Given the description of an element on the screen output the (x, y) to click on. 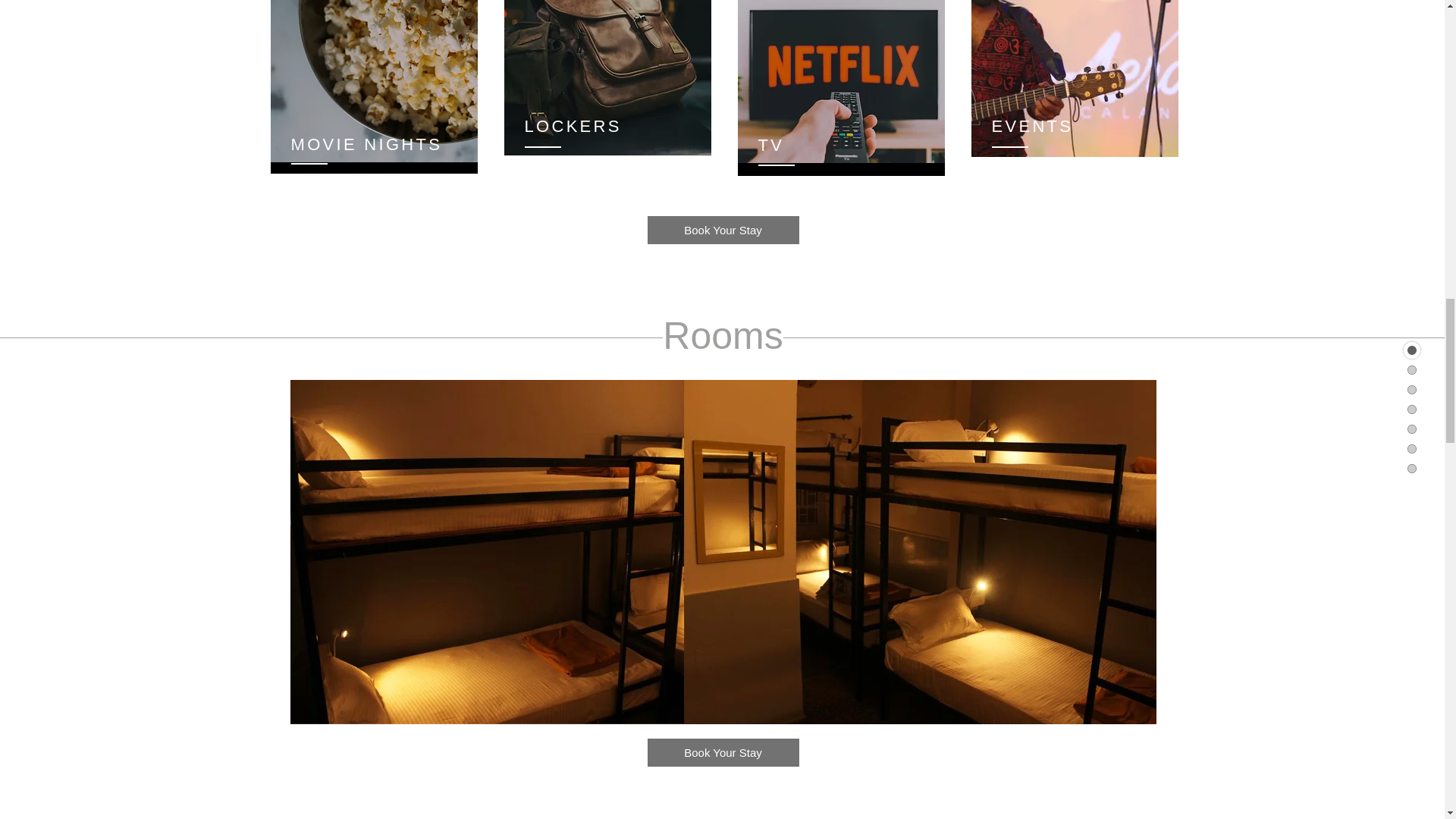
Book Your Stay (723, 752)
Anchor 3 (723, 698)
Book Your Stay (723, 230)
